Given the description of an element on the screen output the (x, y) to click on. 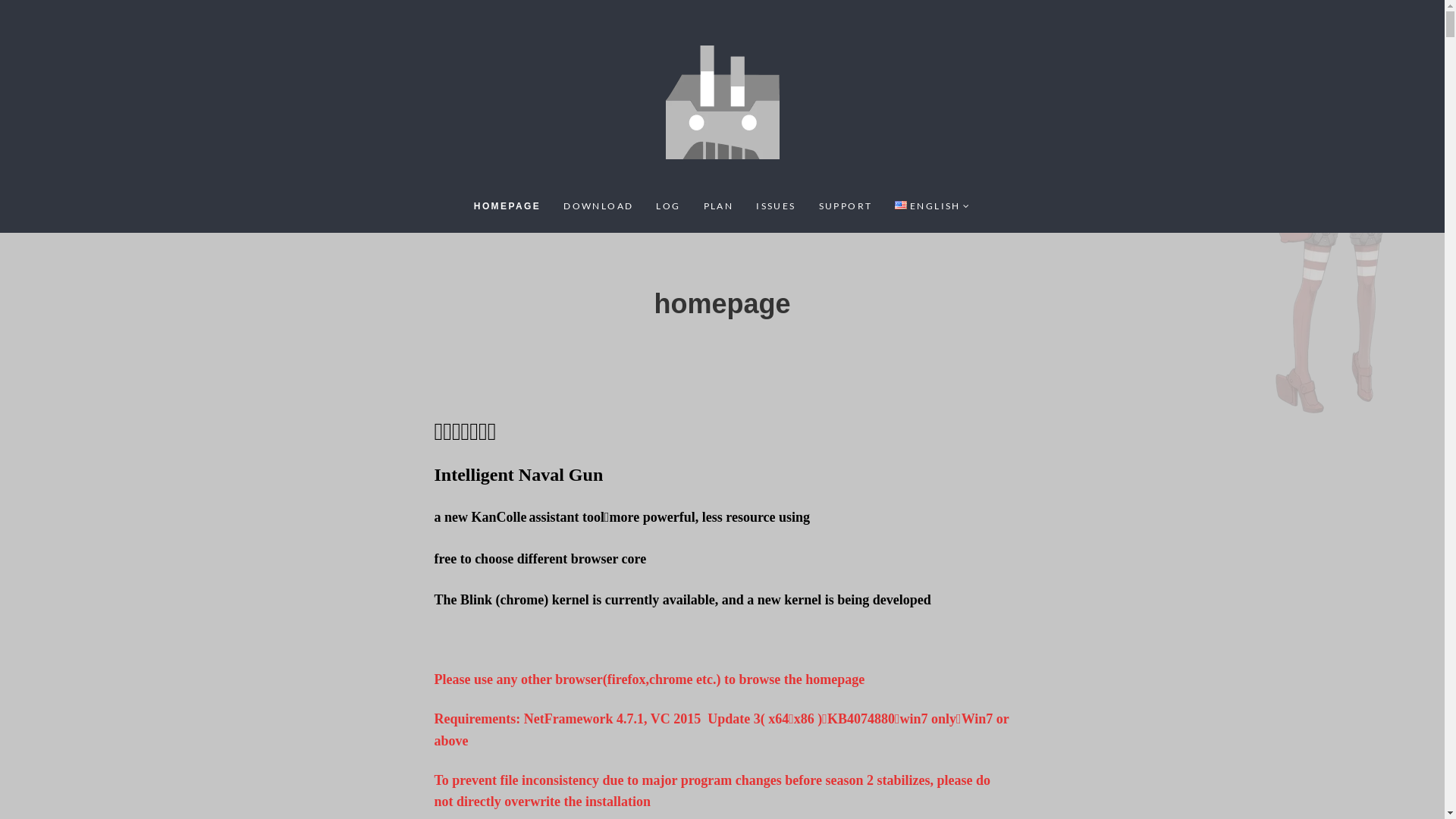
DOWNLOAD Element type: text (598, 205)
LOG Element type: text (667, 205)
ISSUES Element type: text (775, 205)
ENGLISH Element type: text (932, 205)
PLAN Element type: text (718, 205)
HOMEPAGE Element type: text (506, 205)
SUPPORT Element type: text (845, 205)
